Given the description of an element on the screen output the (x, y) to click on. 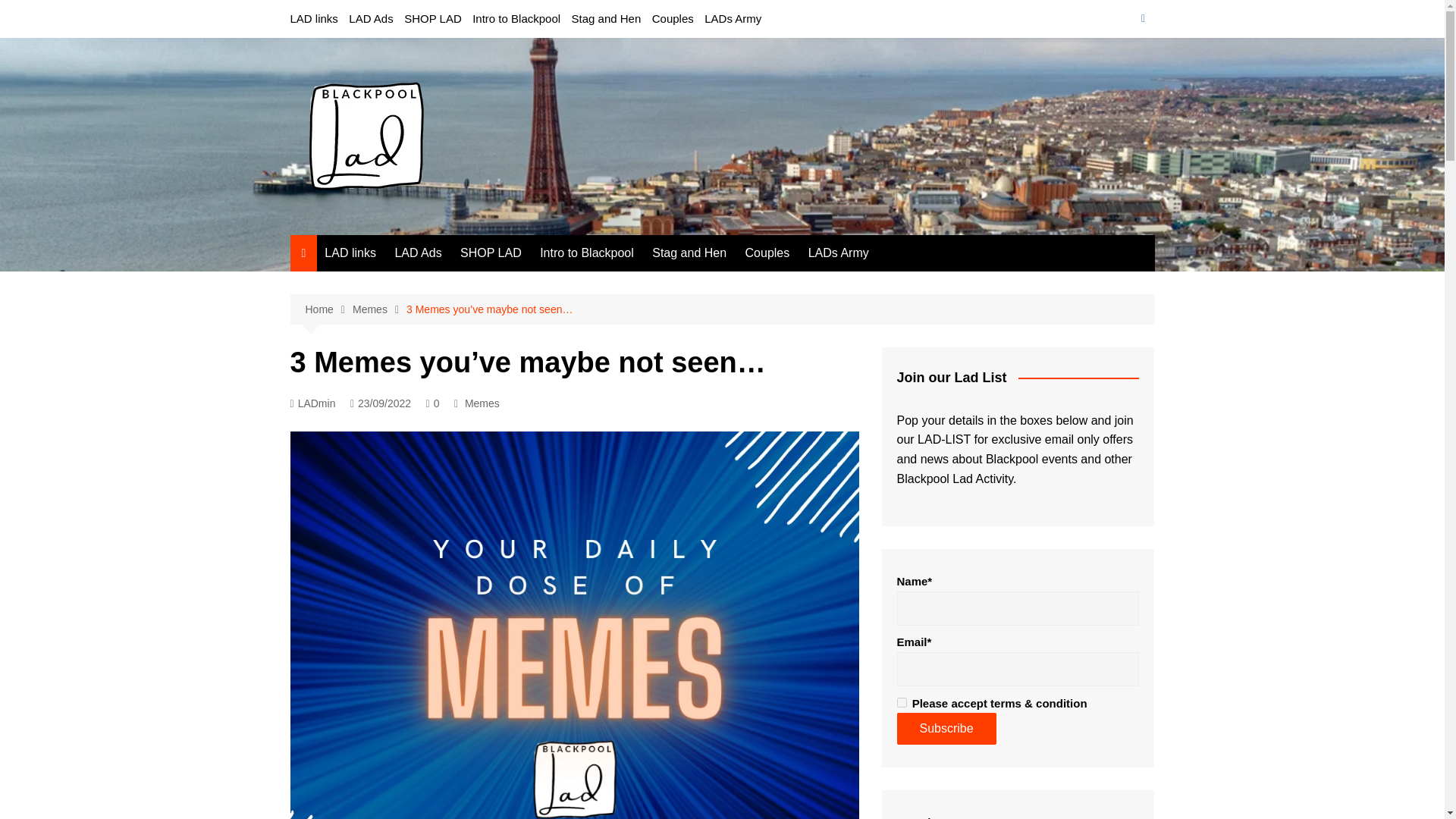
LAD links (313, 18)
Facebook (1142, 18)
Couples (767, 253)
LADmin (311, 403)
LAD Ads (371, 18)
Memes (481, 402)
Subscribe (945, 728)
Home (328, 309)
Stag and Hen (689, 253)
LADs Army (838, 253)
